Given the description of an element on the screen output the (x, y) to click on. 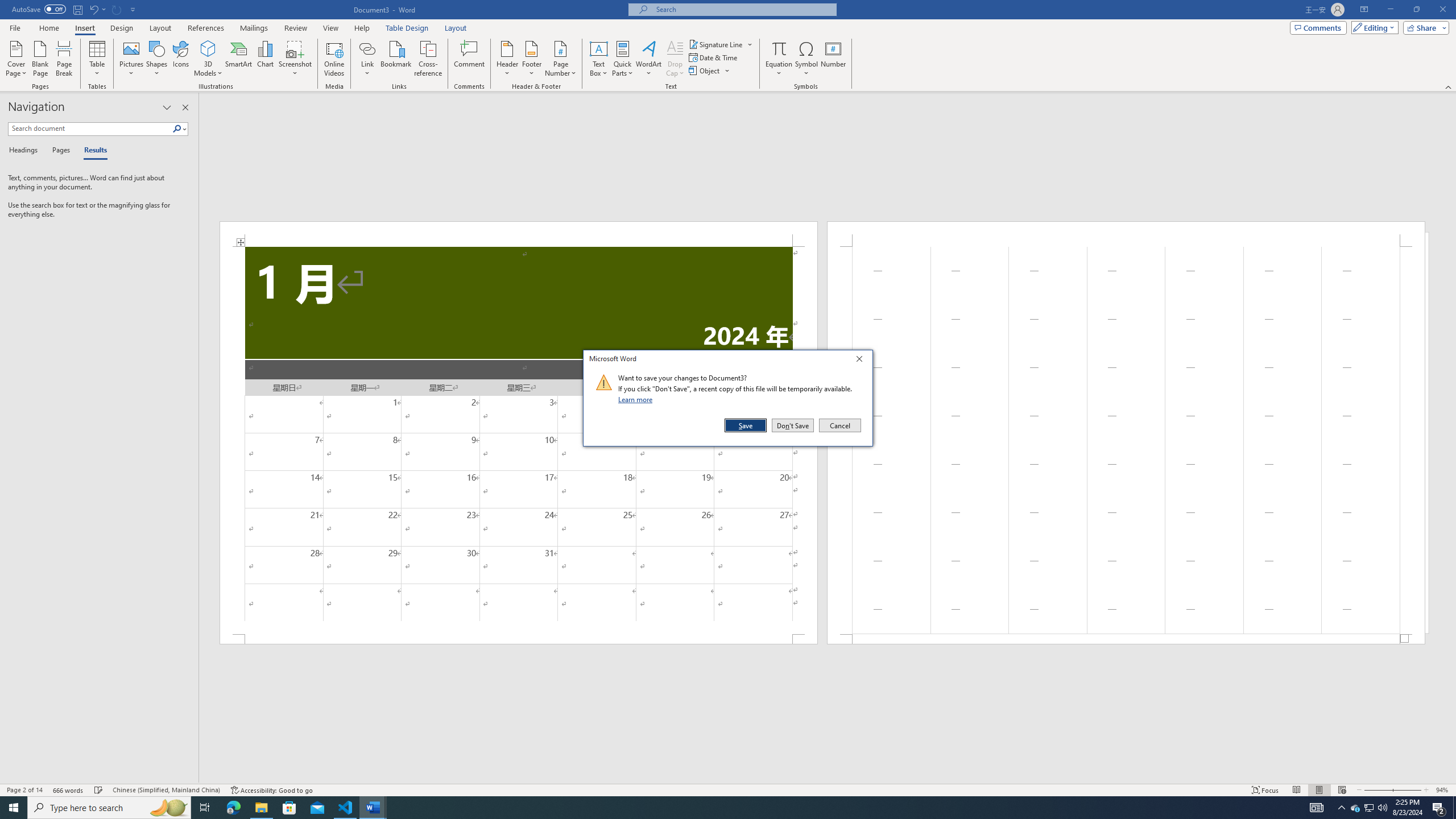
Object... (709, 69)
Symbol (806, 58)
Don't Save (792, 425)
Shapes (156, 58)
Equation (1355, 807)
Cross-reference... (778, 58)
